Given the description of an element on the screen output the (x, y) to click on. 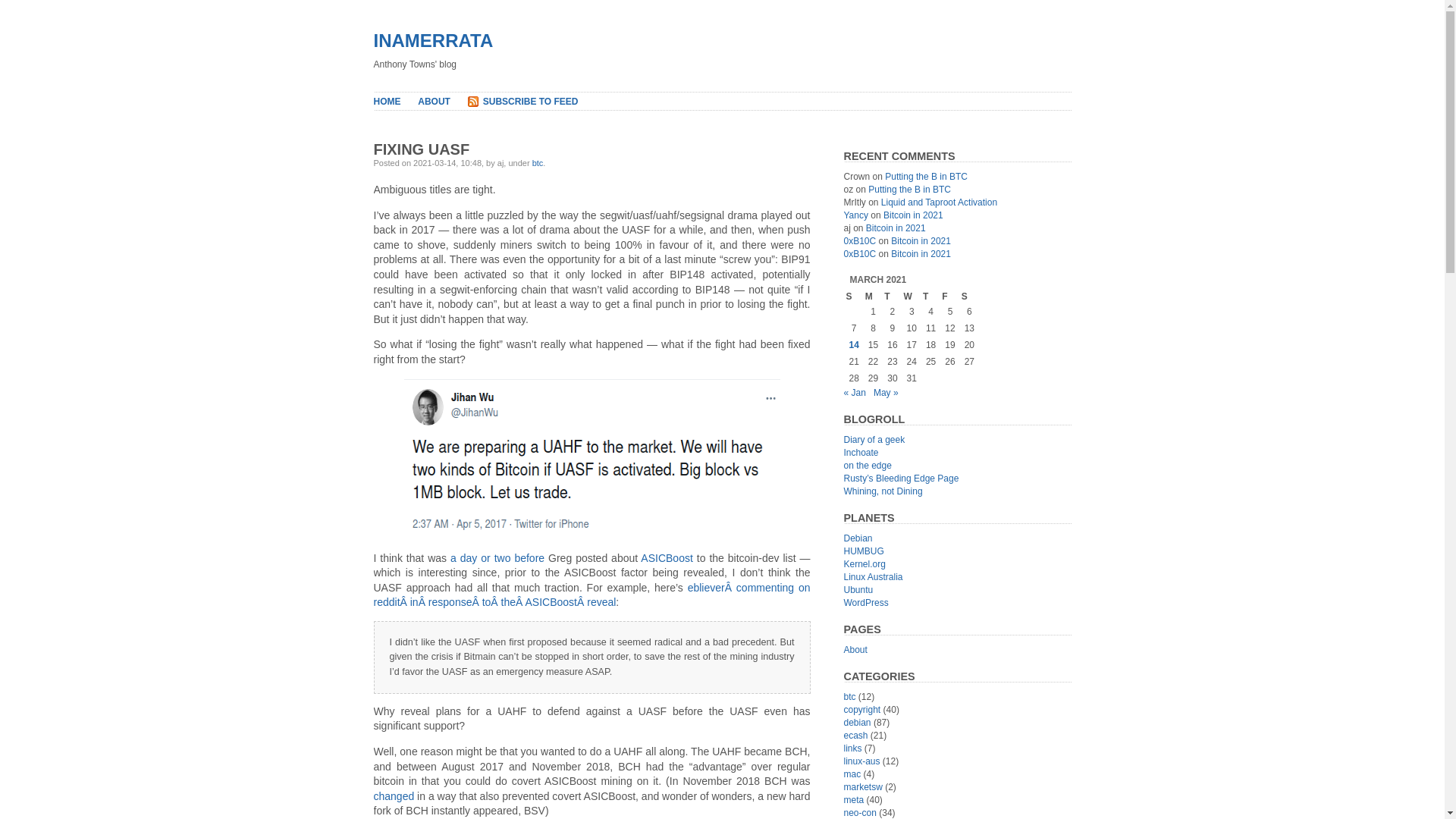
ABOUT Element type: text (433, 101)
Linux Australia Element type: text (872, 576)
ecash Element type: text (855, 735)
WordPress Element type: text (865, 602)
Whining, not Dining Element type: text (882, 491)
Bitcoin in 2021 Element type: text (920, 240)
Liquid and Taproot Activation Element type: text (939, 202)
Inchoate Element type: text (860, 452)
ASICBoost Element type: text (666, 558)
SUBSCRIBE TO FEED Element type: text (530, 101)
on the edge Element type: text (867, 465)
Diary of a geek Element type: text (873, 439)
0xB10C Element type: text (859, 240)
Putting the B in BTC Element type: text (909, 189)
Bitcoin in 2021 Element type: text (920, 253)
HOME Element type: text (386, 101)
changed Element type: text (393, 796)
Ubuntu Element type: text (857, 589)
Yancy Element type: text (855, 215)
meta Element type: text (853, 799)
links Element type: text (852, 748)
a day or two before Element type: text (497, 558)
0xB10C Element type: text (859, 253)
linux-aus Element type: text (861, 761)
INAMERRATA Element type: text (432, 40)
Putting the B in BTC Element type: text (925, 176)
Debian Element type: text (857, 538)
mac Element type: text (851, 773)
neo-con Element type: text (859, 812)
copyright Element type: text (861, 709)
btc Element type: text (849, 696)
marketsw Element type: text (862, 786)
14 Element type: text (854, 344)
Bitcoin in 2021 Element type: text (913, 215)
HUMBUG Element type: text (863, 551)
debian Element type: text (856, 722)
btc Element type: text (537, 162)
About Element type: text (854, 649)
Kernel.org Element type: text (863, 563)
Bitcoin in 2021 Element type: text (895, 227)
